Given the description of an element on the screen output the (x, y) to click on. 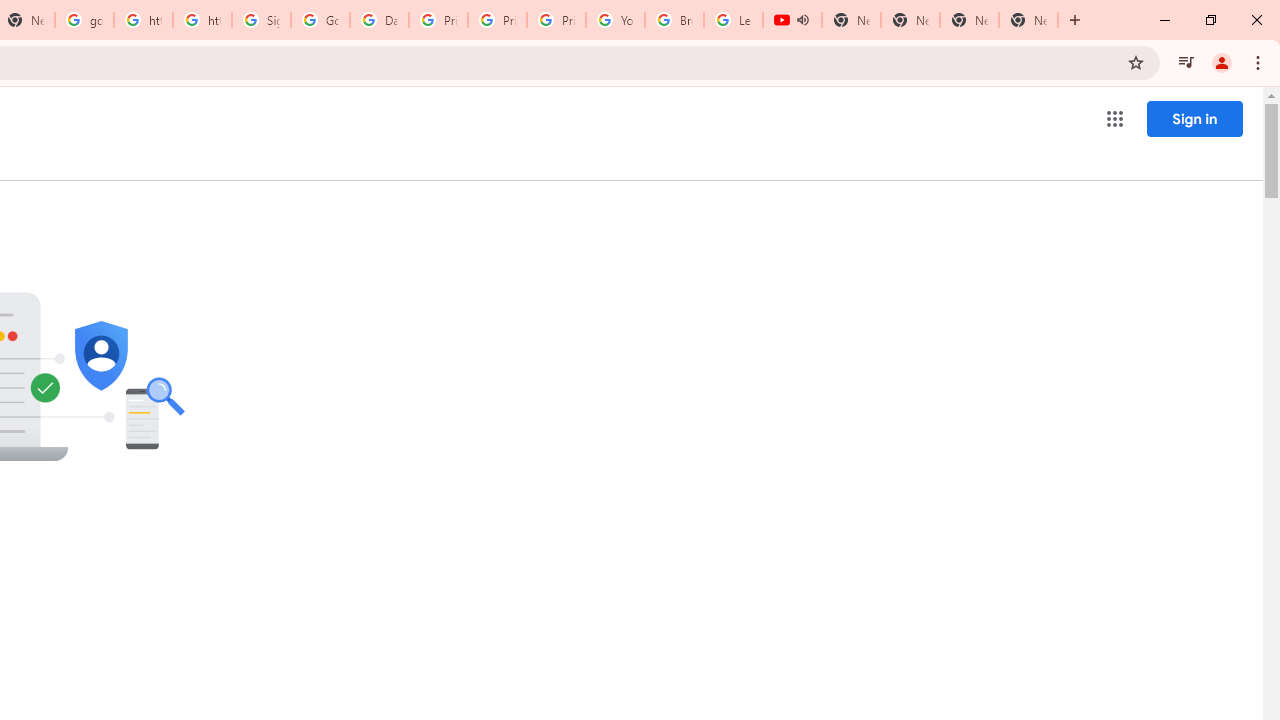
https://scholar.google.com/ (142, 20)
https://scholar.google.com/ (201, 20)
Sign in - Google Accounts (260, 20)
